Given the description of an element on the screen output the (x, y) to click on. 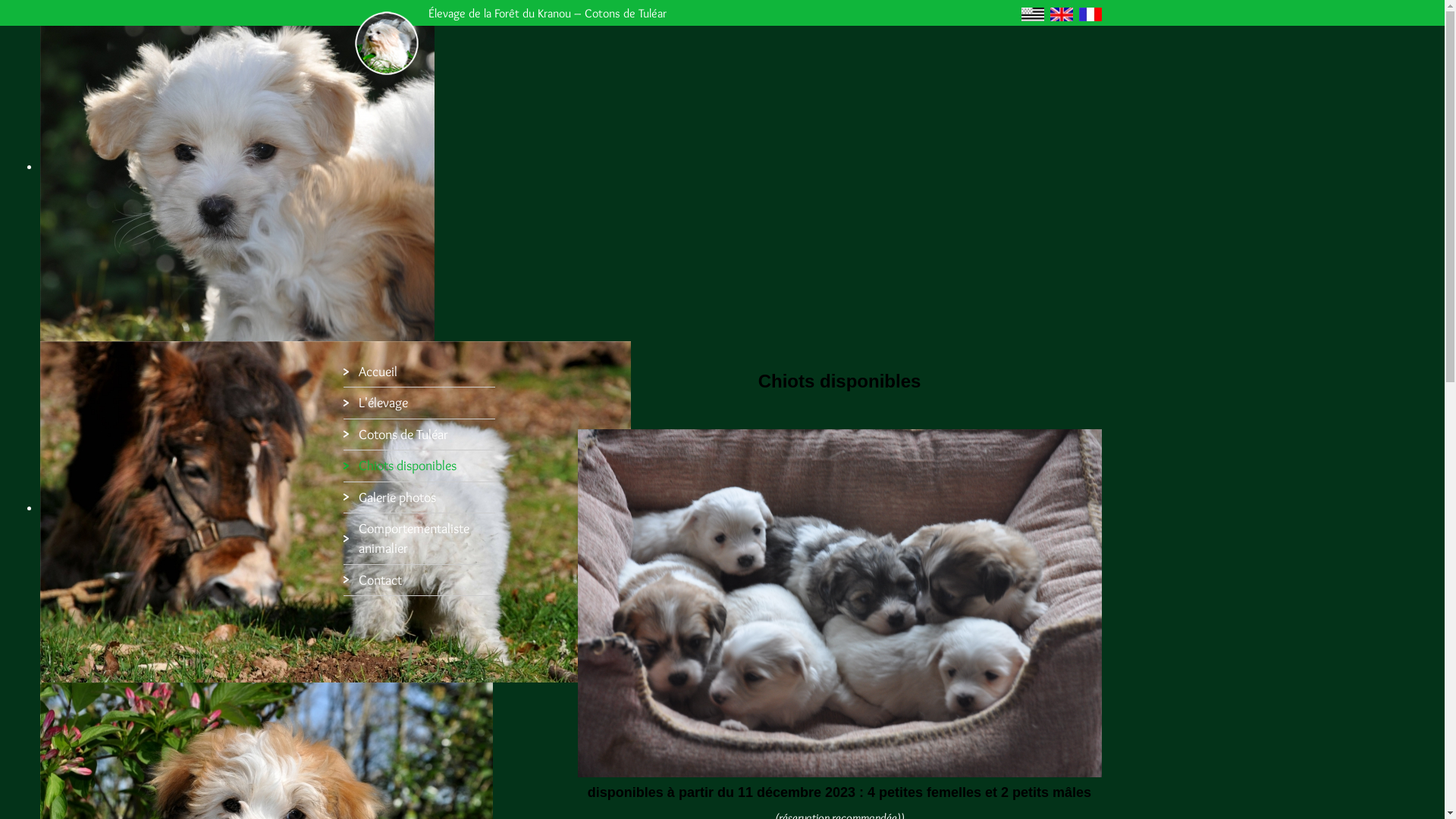
Galerie photos Element type: text (418, 497)
Contact Element type: text (418, 579)
Brezhoneg Element type: hover (1031, 14)
Comportementaliste animalier Element type: text (418, 538)
Chiots disponibles Element type: text (418, 465)
Accueil Element type: text (418, 371)
English Element type: hover (1060, 14)
